Given the description of an element on the screen output the (x, y) to click on. 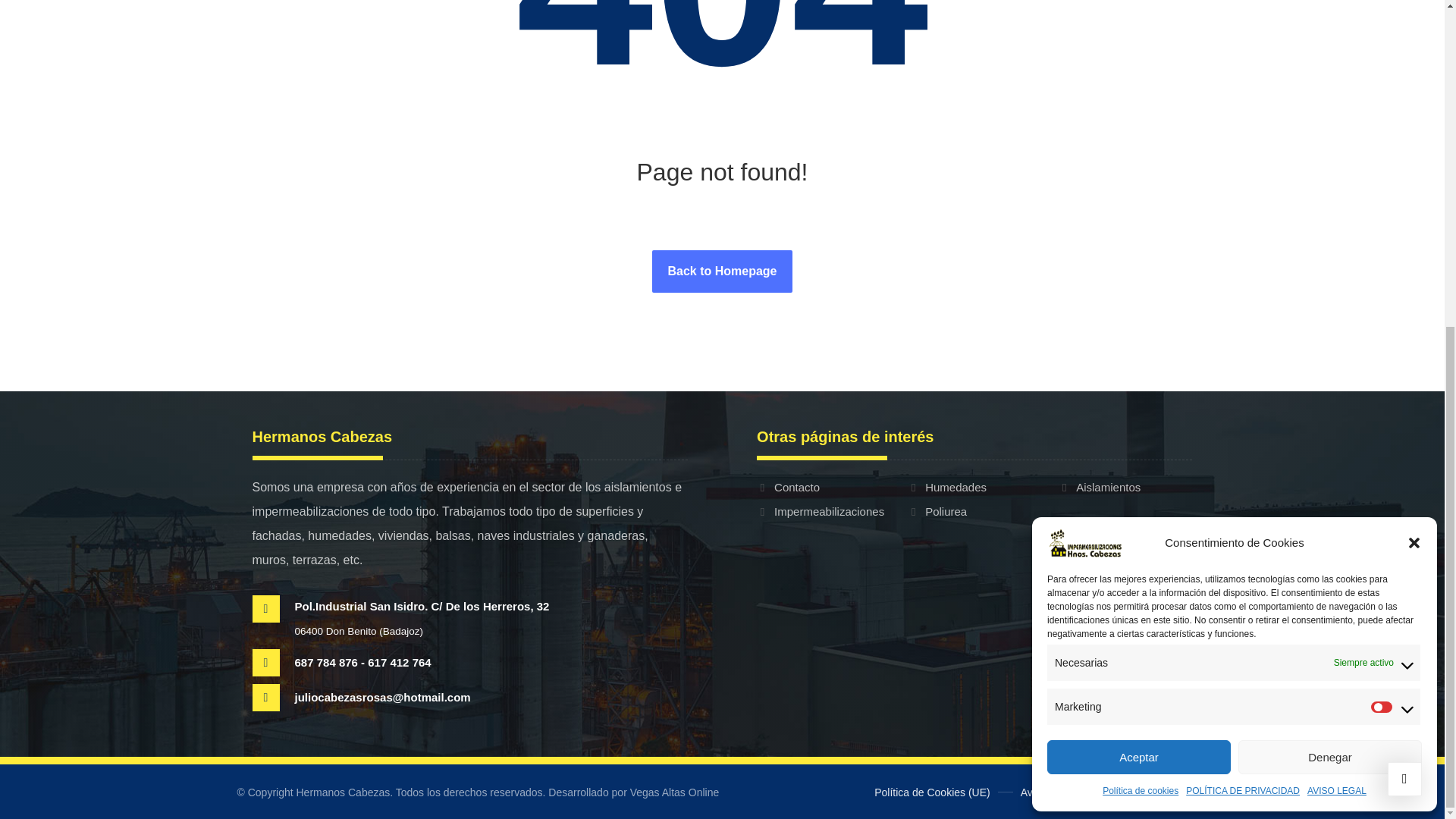
AVISO LEGAL (1337, 253)
Aceptar (1138, 220)
Denegar (1330, 220)
Back to Homepage (722, 271)
